Given the description of an element on the screen output the (x, y) to click on. 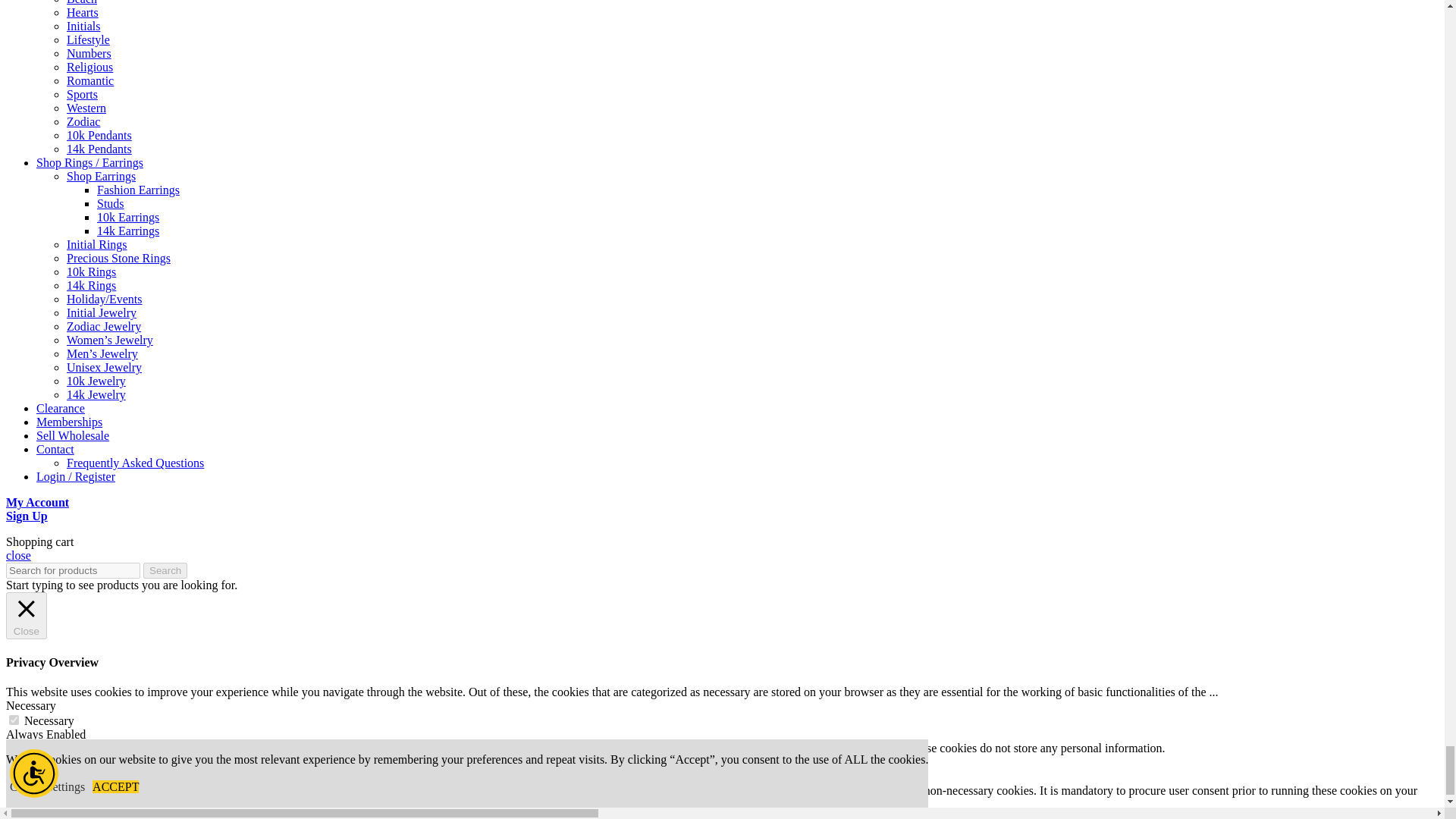
on (13, 719)
on (13, 776)
